Given the description of an element on the screen output the (x, y) to click on. 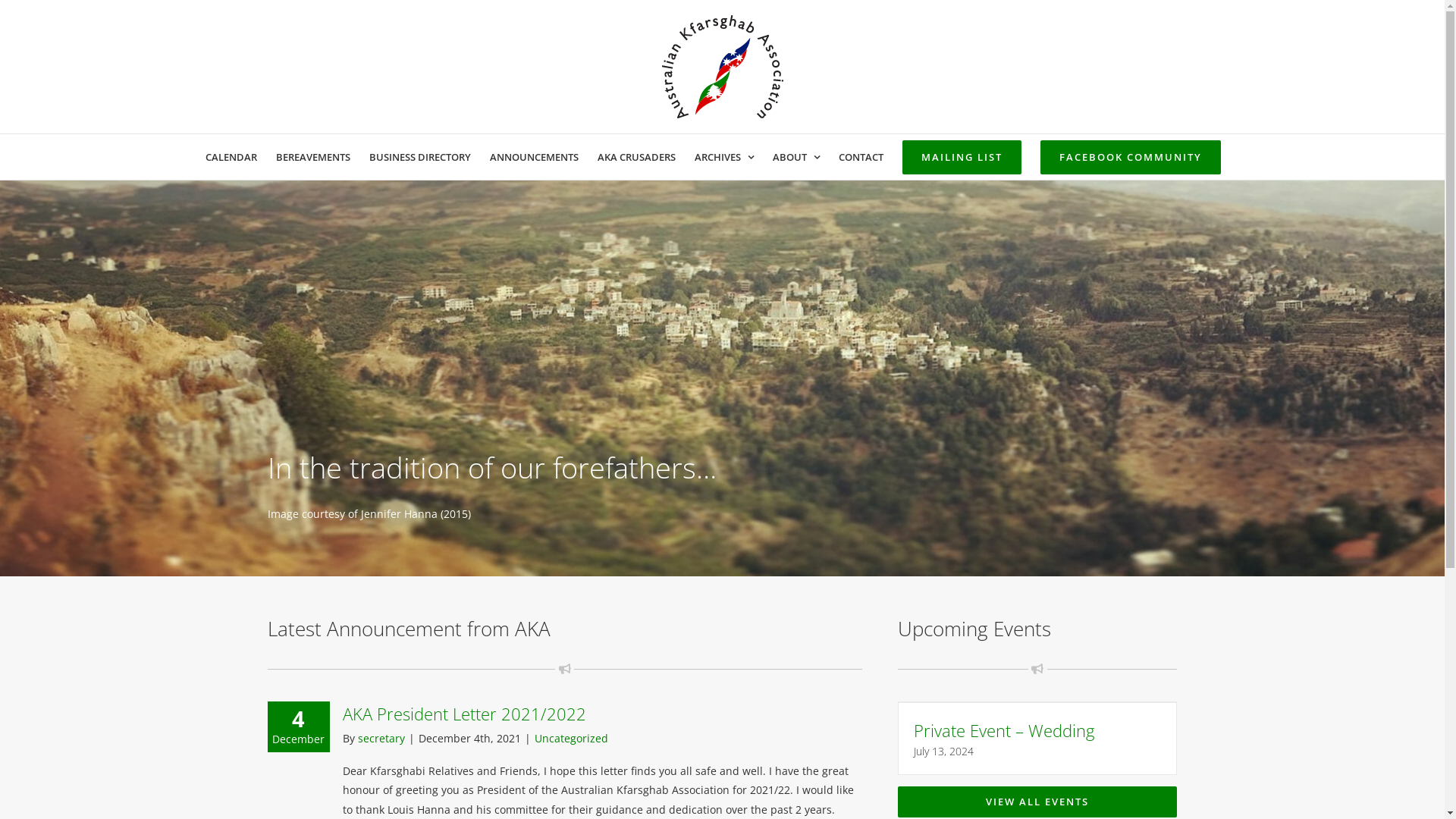
AKA CRUSADERS Element type: text (636, 156)
ABOUT Element type: text (795, 156)
CALENDAR Element type: text (230, 156)
FACEBOOK COMMUNITY Element type: text (1130, 156)
BUSINESS DIRECTORY Element type: text (419, 156)
CONTACT Element type: text (860, 156)
Uncategorized Element type: text (570, 738)
ARCHIVES Element type: text (723, 156)
ANNOUNCEMENTS Element type: text (533, 156)
AKA President Letter 2021/2022 Element type: text (464, 713)
BEREAVEMENTS Element type: text (313, 156)
VIEW ALL EVENTS Element type: text (1036, 802)
MAILING LIST Element type: text (961, 156)
secretary Element type: text (380, 738)
